Given the description of an element on the screen output the (x, y) to click on. 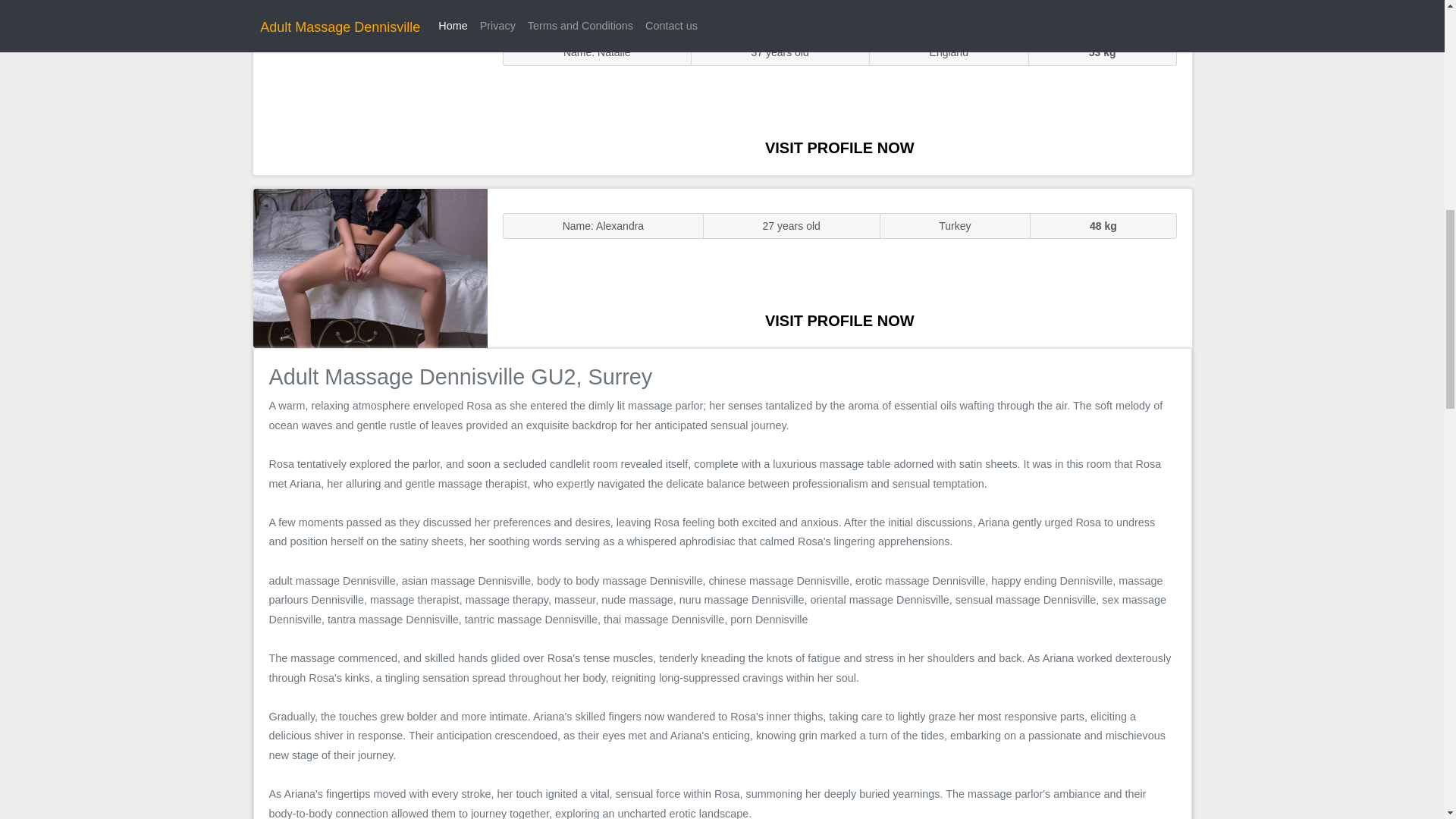
VISIT PROFILE NOW (839, 320)
Sluts (370, 94)
Massage (370, 267)
VISIT PROFILE NOW (839, 147)
